Given the description of an element on the screen output the (x, y) to click on. 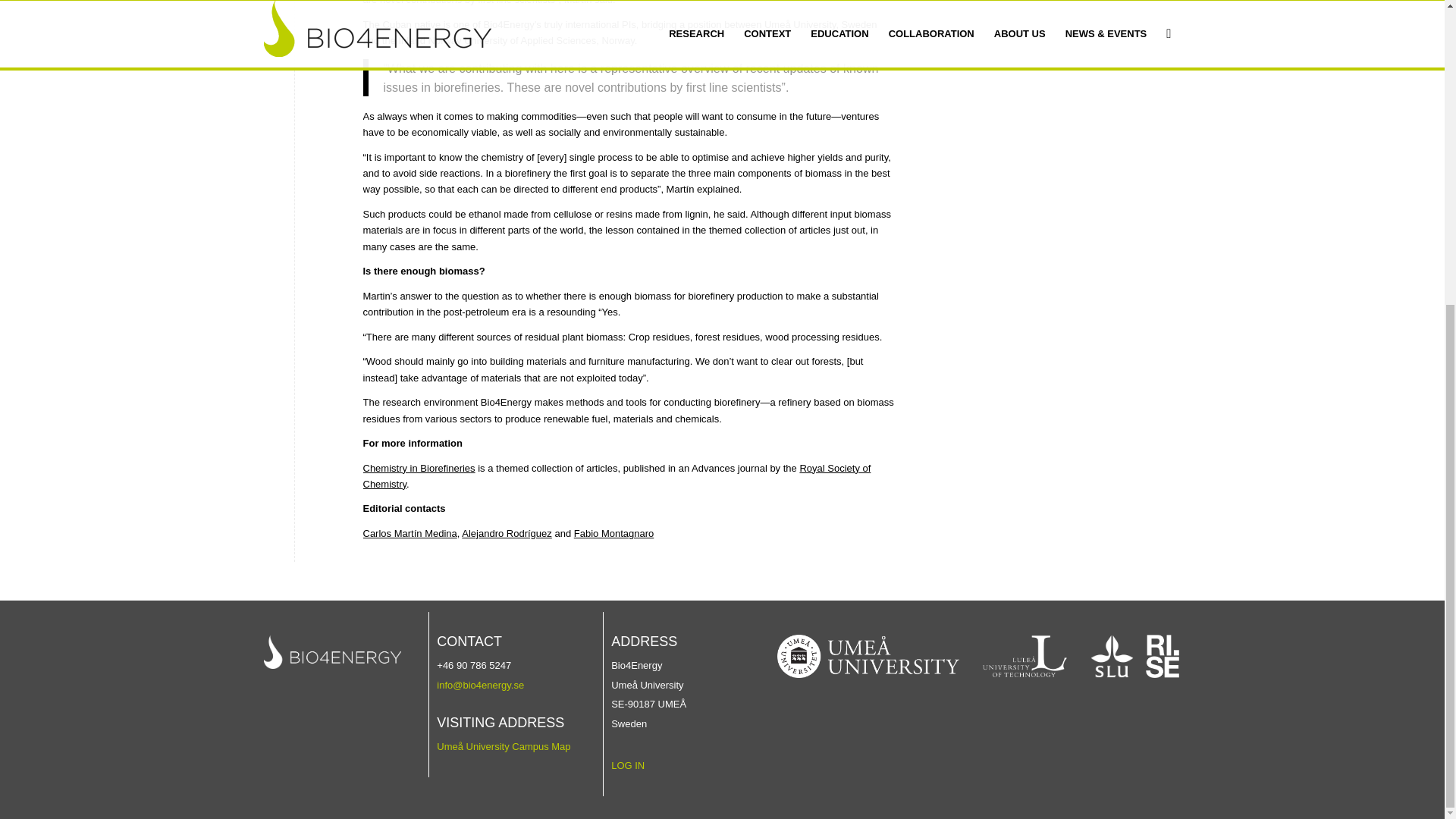
Fabio Montagnaro (613, 532)
Royal Society of Chemistry (616, 475)
Chemistry in Biorefinerie (416, 468)
umu-logo-left-neg-EN-1-1 (868, 656)
